Given the description of an element on the screen output the (x, y) to click on. 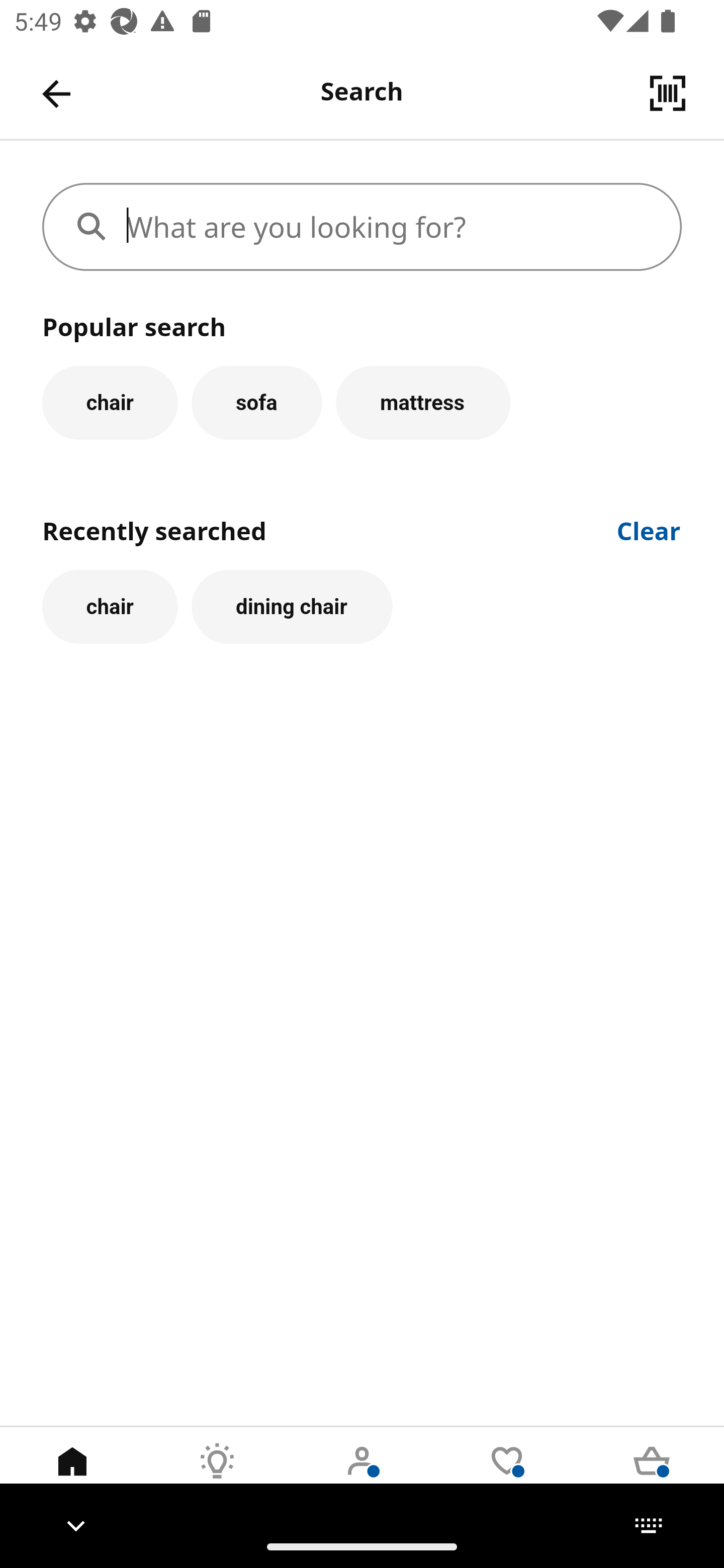
chair (109, 402)
sofa (256, 402)
mattress (423, 402)
Clear (649, 528)
chair (109, 606)
dining chair (291, 606)
Home
Tab 1 of 5 (72, 1476)
Inspirations
Tab 2 of 5 (216, 1476)
User
Tab 3 of 5 (361, 1476)
Wishlist
Tab 4 of 5 (506, 1476)
Cart
Tab 5 of 5 (651, 1476)
